Given the description of an element on the screen output the (x, y) to click on. 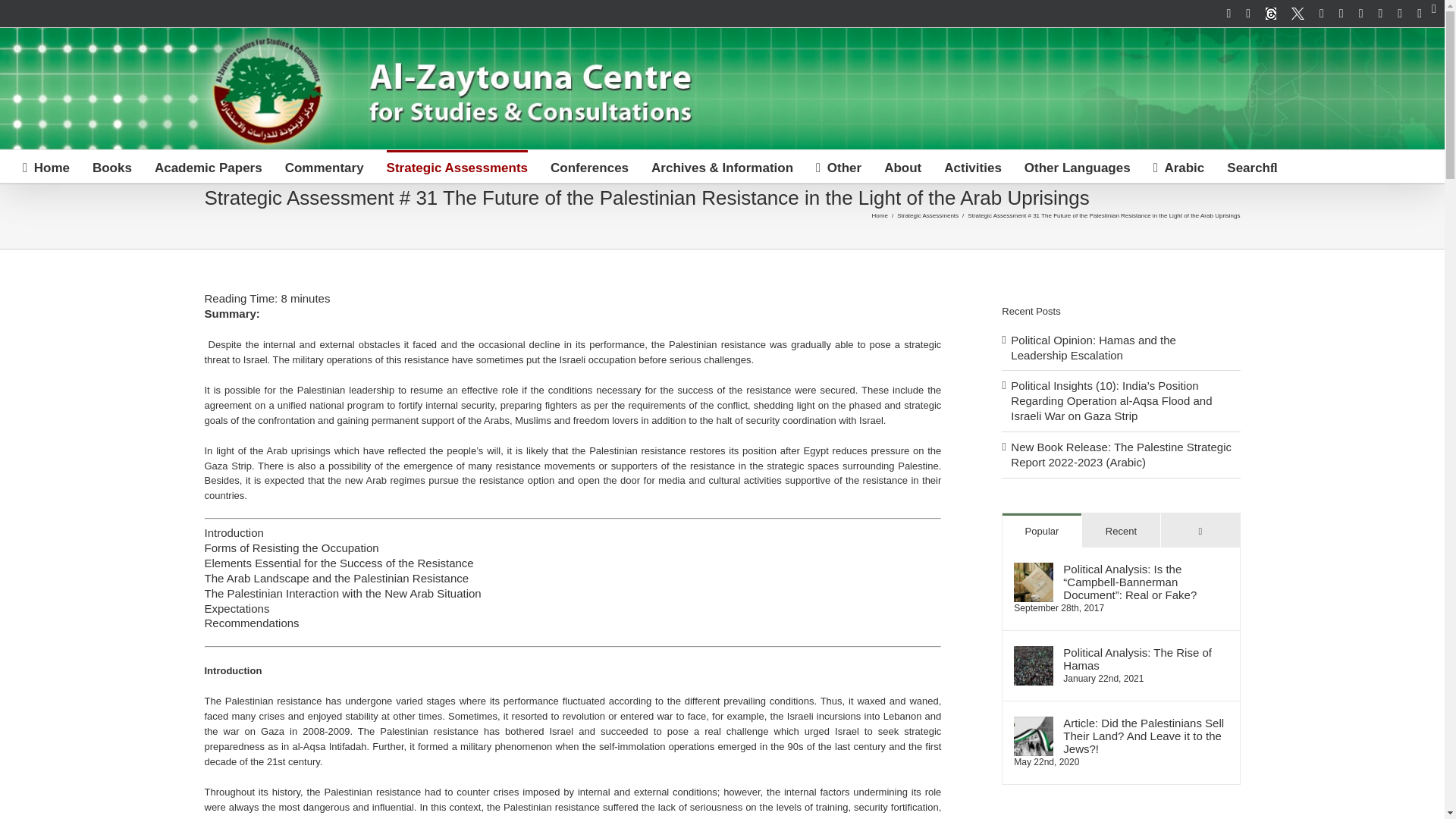
Strategic Assessments (457, 165)
Commentary (324, 165)
Home (46, 165)
Search (1251, 165)
Academic Papers (208, 165)
Conferences (589, 165)
Books (112, 165)
